Given the description of an element on the screen output the (x, y) to click on. 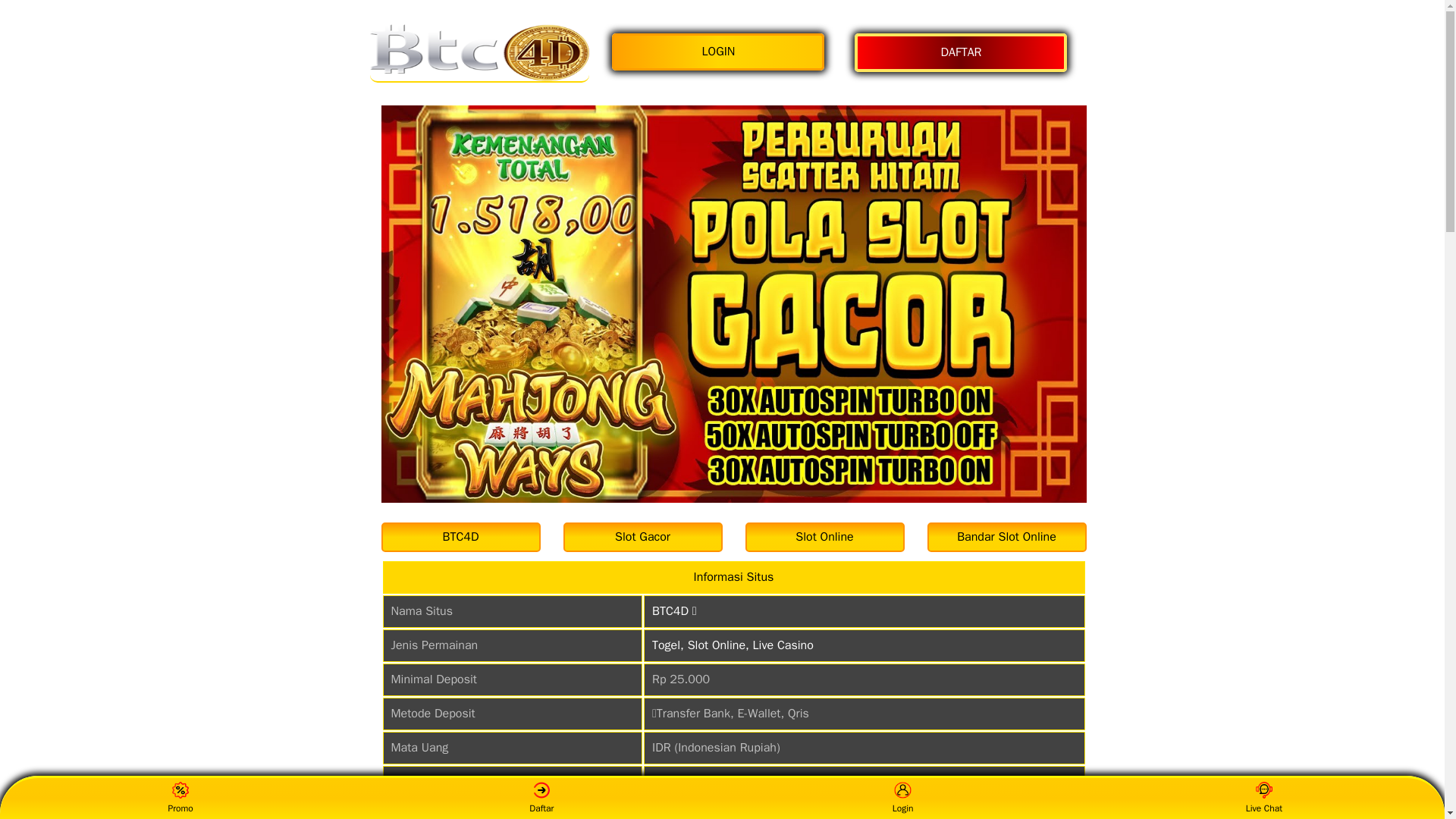
LOGIN (721, 51)
Live Chat (1263, 797)
Slot Gacor (642, 537)
Login (903, 797)
Togel, Slot Online, Live Casino (732, 645)
Bandar Slot Online (1006, 537)
Promo (180, 797)
Daftar (541, 797)
Slot Online (824, 537)
Slot Online (824, 537)
BTC4D (479, 52)
BTC4D (460, 537)
Slot Gacor (642, 537)
Bandar Slot Online (1006, 537)
BTC4D (460, 537)
